Given the description of an element on the screen output the (x, y) to click on. 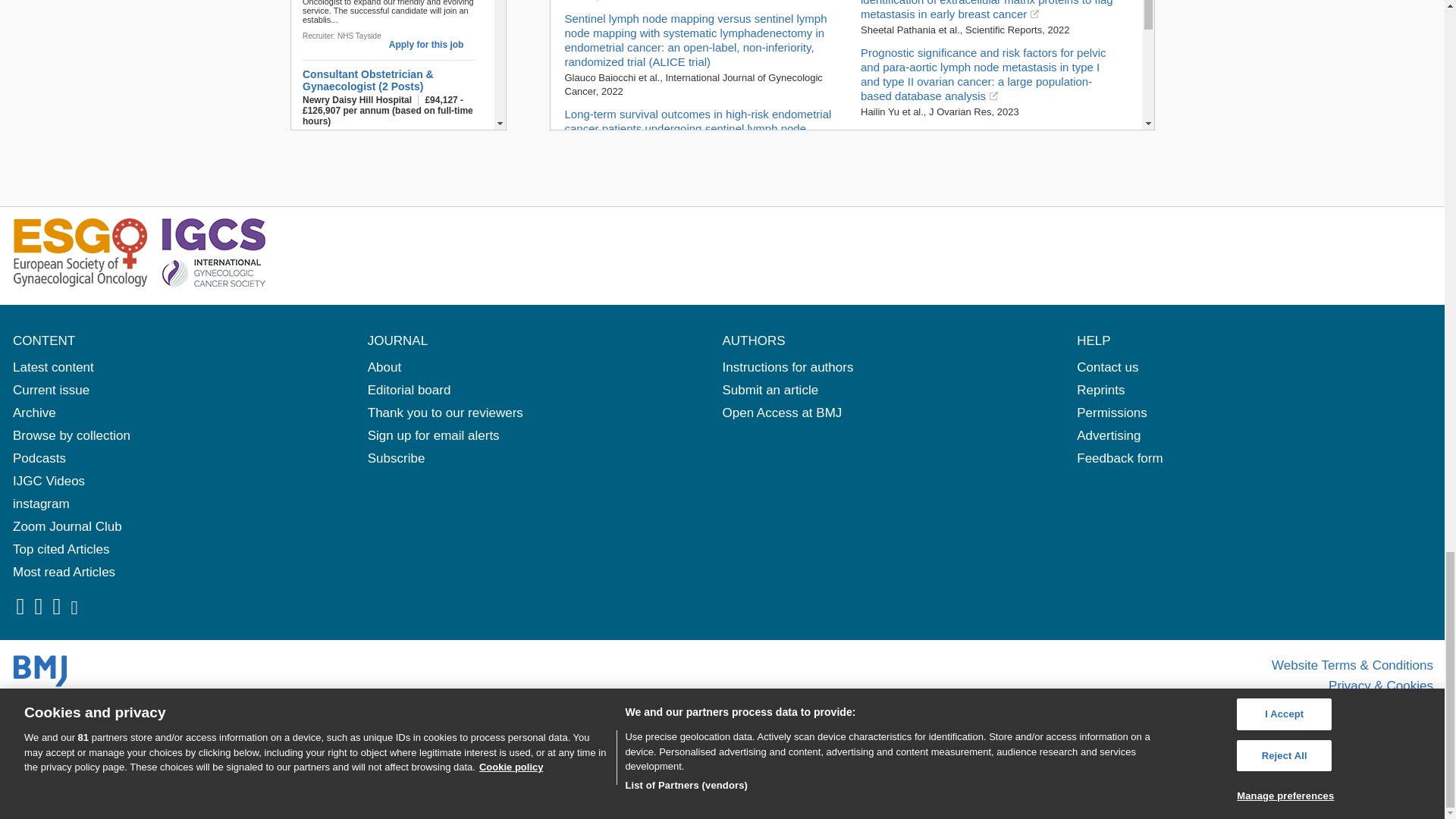
careers widget (397, 65)
